Given the description of an element on the screen output the (x, y) to click on. 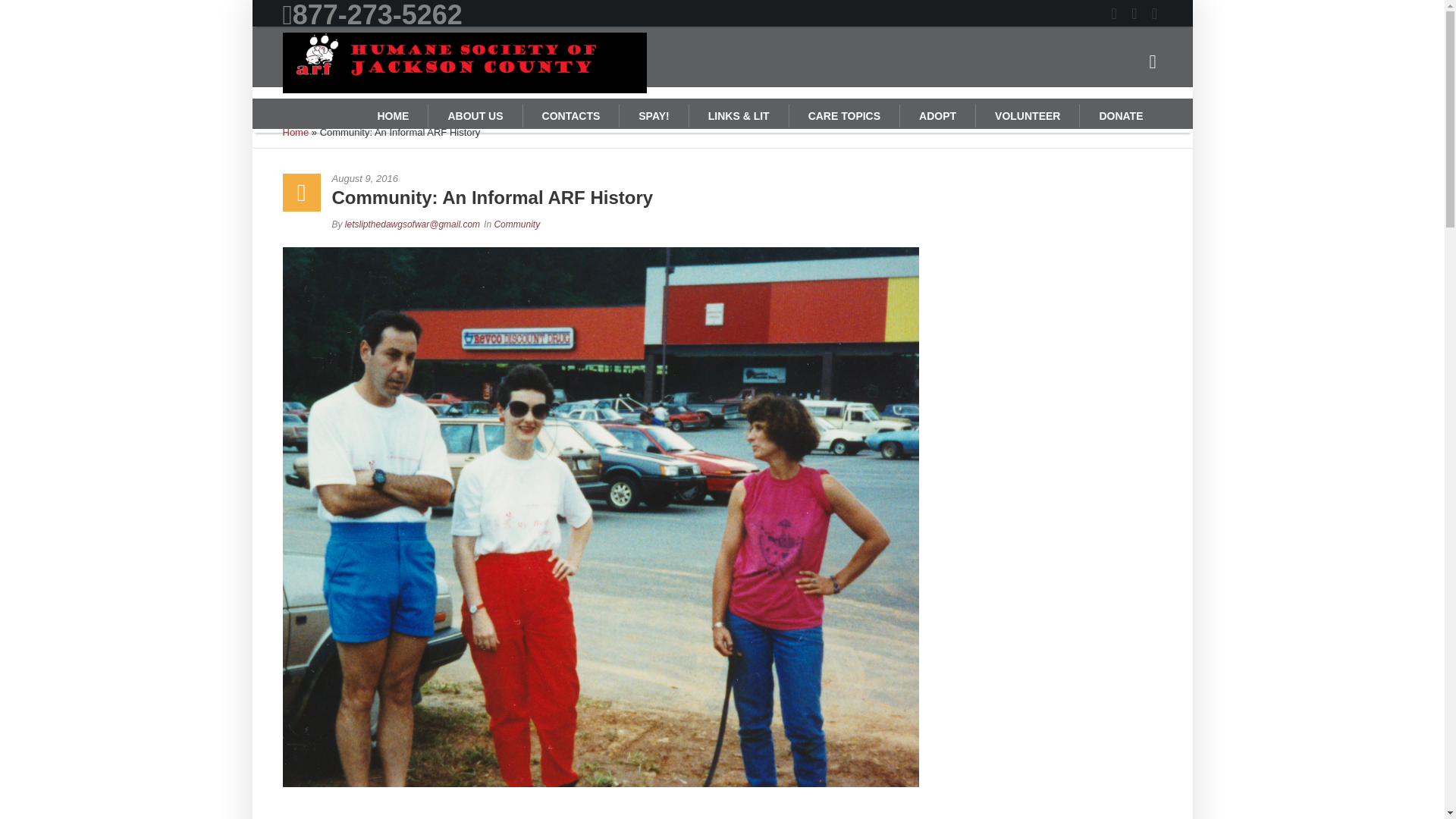
ABOUT US (474, 115)
Home (295, 132)
Community (516, 224)
HOME (393, 115)
August 9, 2016 (746, 178)
VOLUNTEER (1026, 115)
Facebook (1133, 13)
ARF aka Humane Society of Jackson County (721, 509)
Twitter (678, 628)
ADOPT (937, 115)
SPAY! (652, 115)
CONTACTS (571, 115)
Community: An Informal ARF History (600, 630)
Twitter (1113, 13)
Facebook (725, 628)
